Given the description of an element on the screen output the (x, y) to click on. 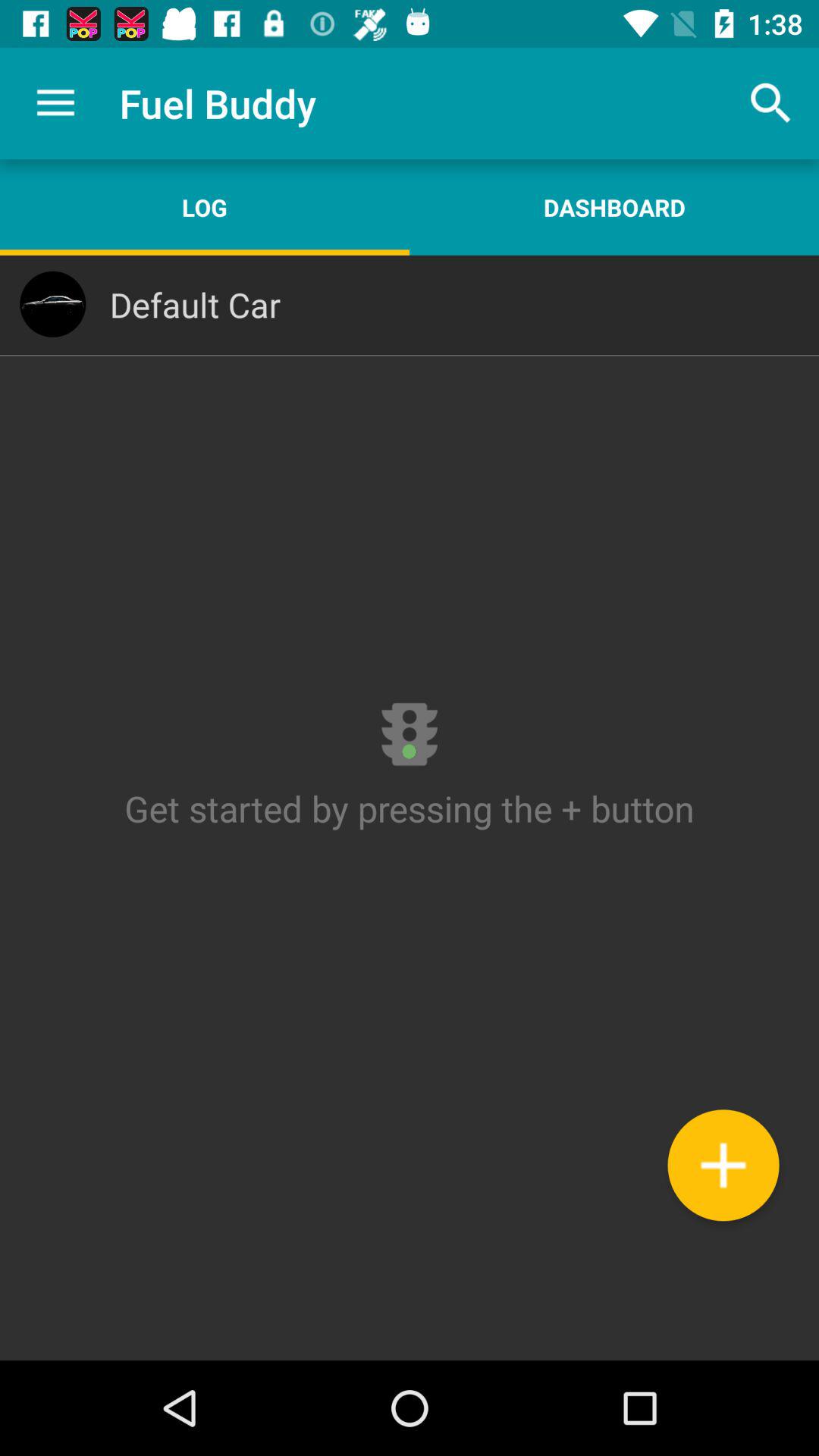
tap item next to the dashboard app (204, 207)
